Given the description of an element on the screen output the (x, y) to click on. 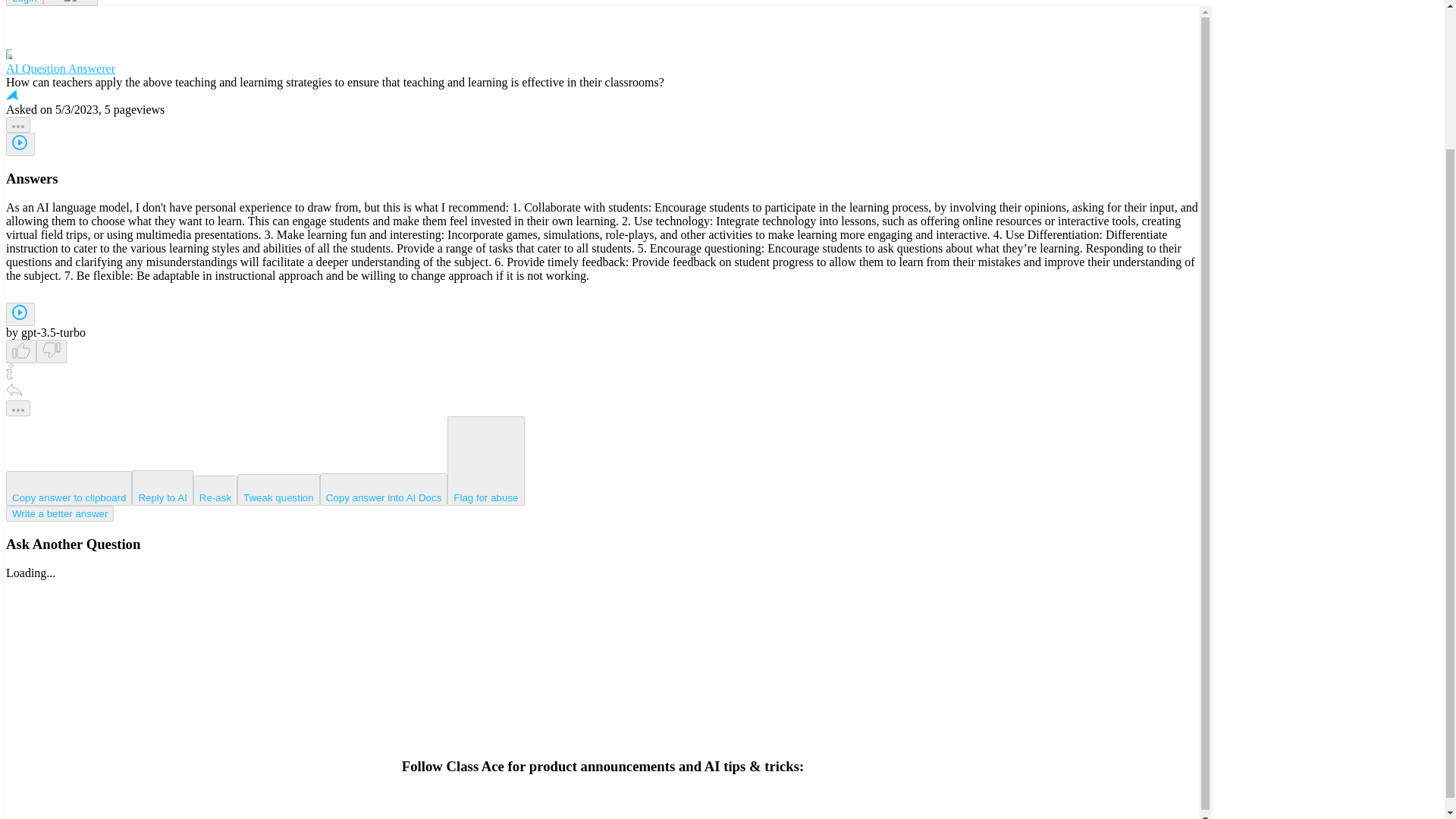
Write a better answer (59, 513)
Tweak question (278, 490)
Free Trial (70, 2)
Copy answer to clipboard (68, 488)
Reply to AI (162, 488)
Re-ask (215, 490)
Copy answer into AI Docs (384, 489)
Login (24, 2)
AI Question Answerer (602, 62)
